Given the description of an element on the screen output the (x, y) to click on. 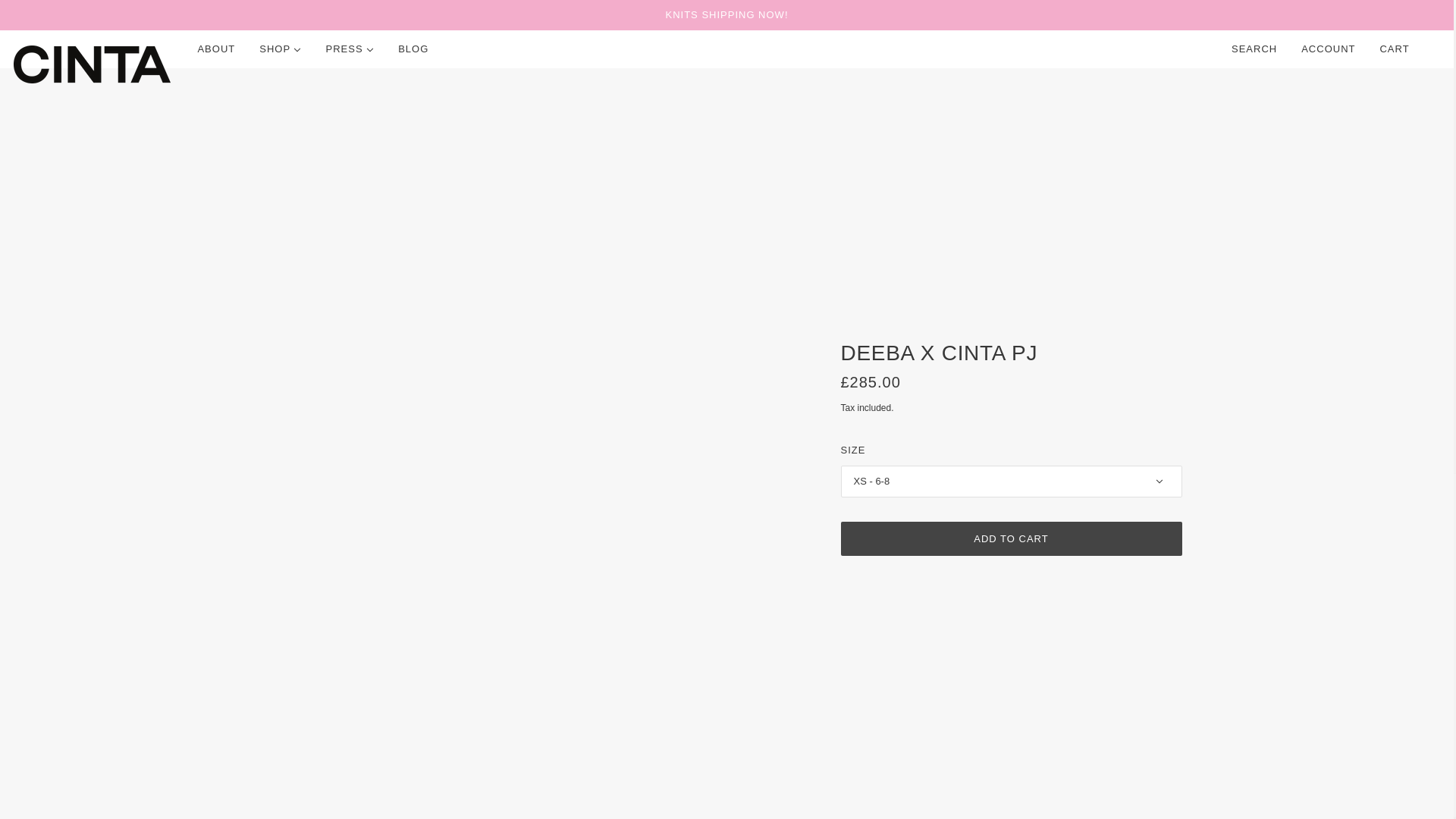
ABOUT (215, 48)
CintaTheLabelLondon (91, 64)
SHOP  (280, 48)
